Given the description of an element on the screen output the (x, y) to click on. 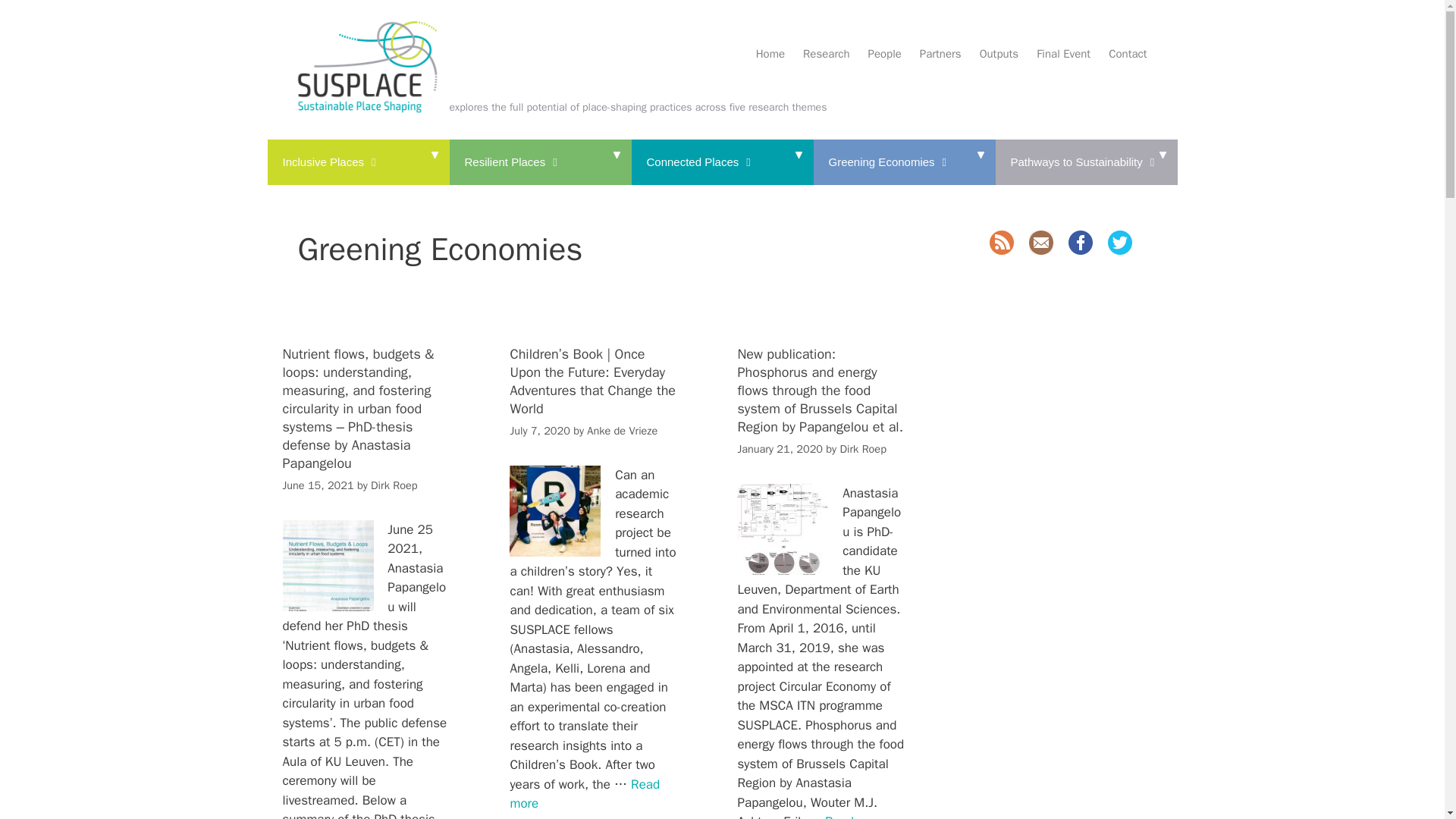
View all posts by Dirk Roep (863, 448)
Dirk Roep (393, 485)
View all posts by Dirk Roep (393, 485)
Partners (930, 54)
Research (816, 54)
Outputs (989, 54)
Home (761, 54)
Pathways to Sustainability (1085, 162)
Greening Economies (903, 162)
Anke de Vrieze (622, 430)
Connected Places (721, 162)
Final Event (1053, 54)
View all posts by Anke de Vrieze (622, 430)
People (874, 54)
